Given the description of an element on the screen output the (x, y) to click on. 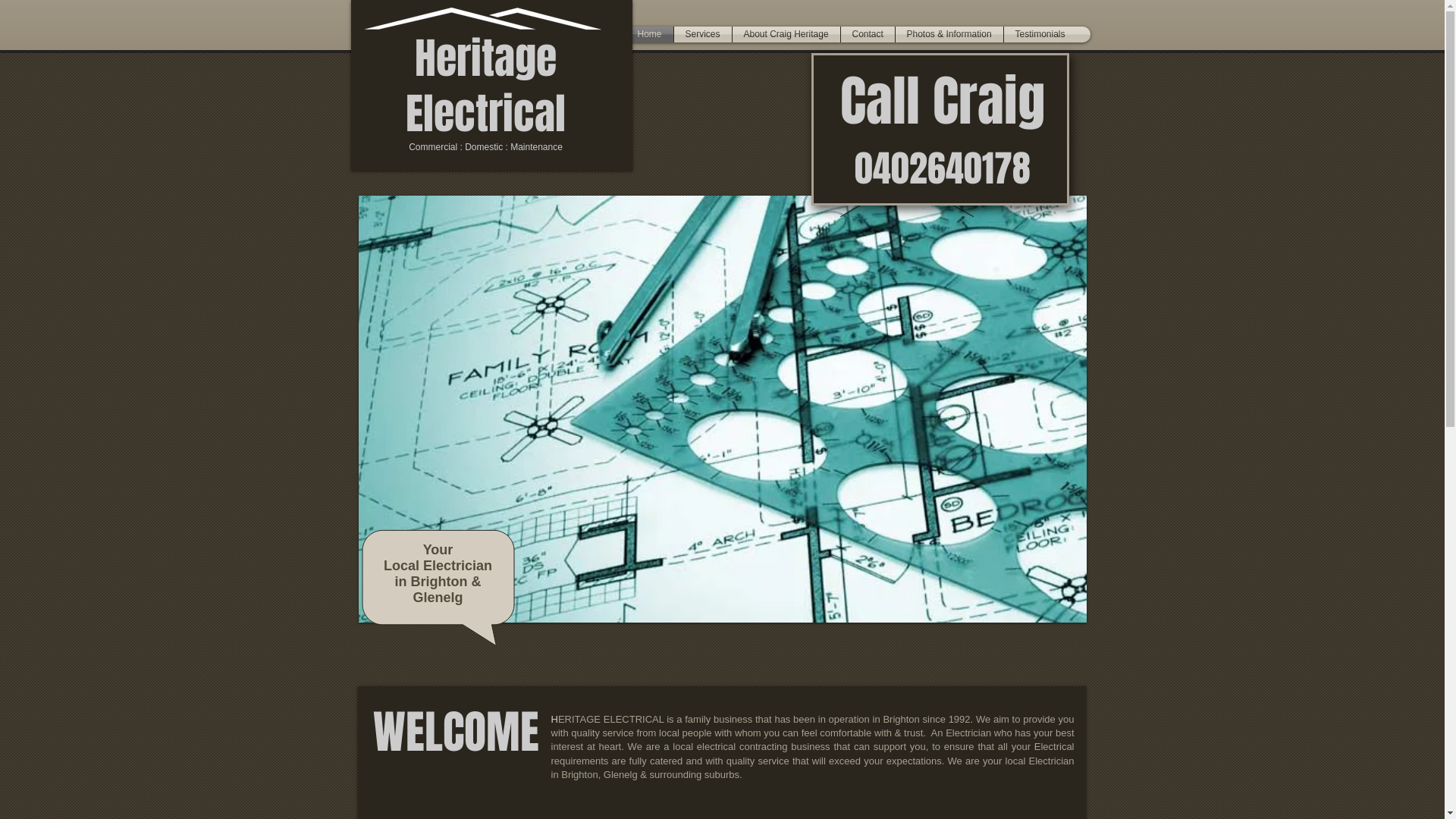
Heritage Electrical Element type: text (485, 85)
About Craig Heritage Element type: text (786, 34)
Commercial : Domestic : Maintenance Element type: text (485, 146)
Testimonials Element type: text (1040, 34)
Services Element type: text (702, 34)
Contact Element type: text (867, 34)
Photos & Information Element type: text (948, 34)
Home Element type: text (649, 34)
Designing your eletrical layout for your home Element type: hover (721, 408)
